Given the description of an element on the screen output the (x, y) to click on. 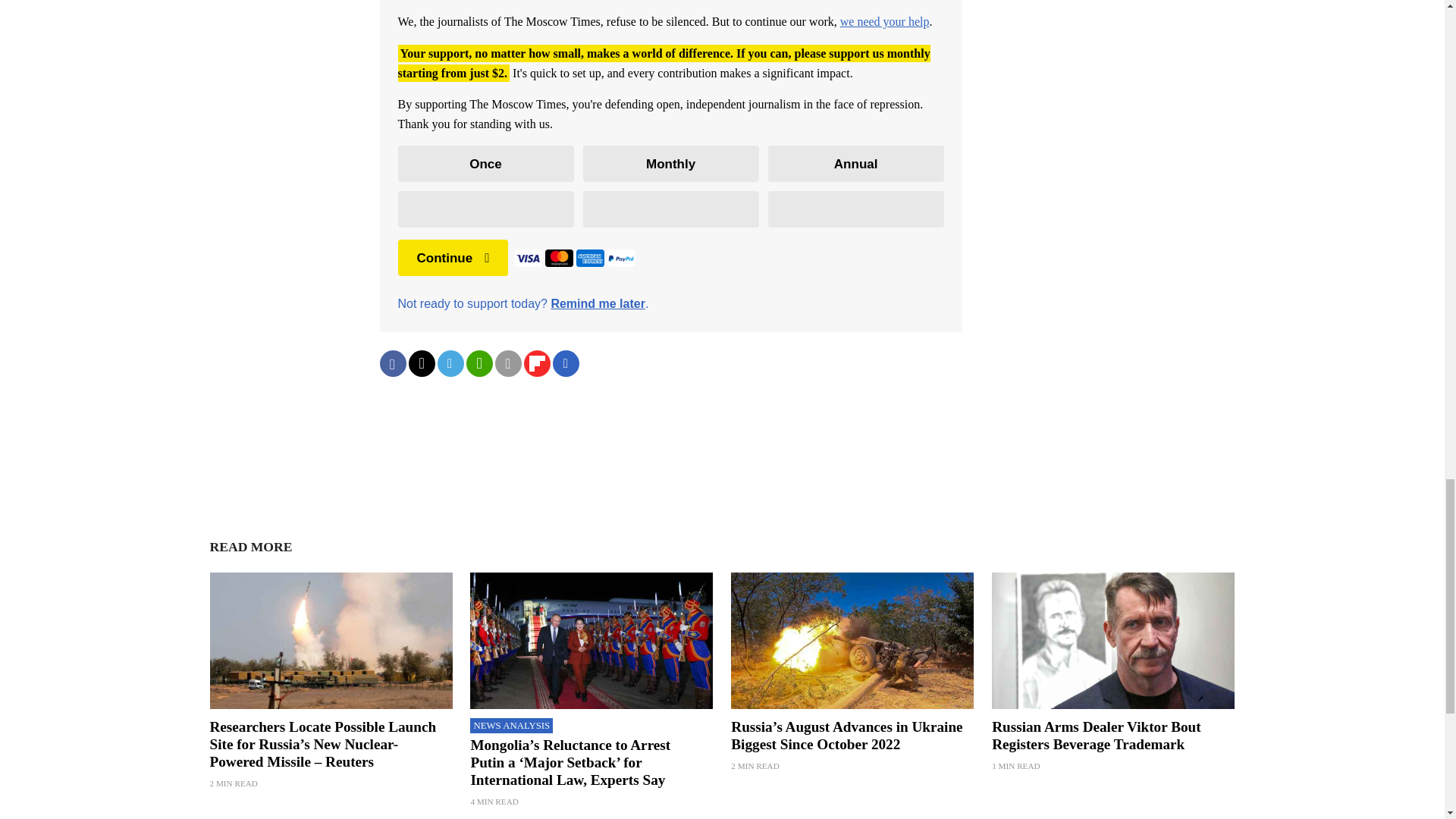
Share on Telegram (449, 363)
Share on Facebook (392, 363)
we need your help (885, 21)
Share on Flipboard (536, 363)
Share on Twitter (420, 363)
